Given the description of an element on the screen output the (x, y) to click on. 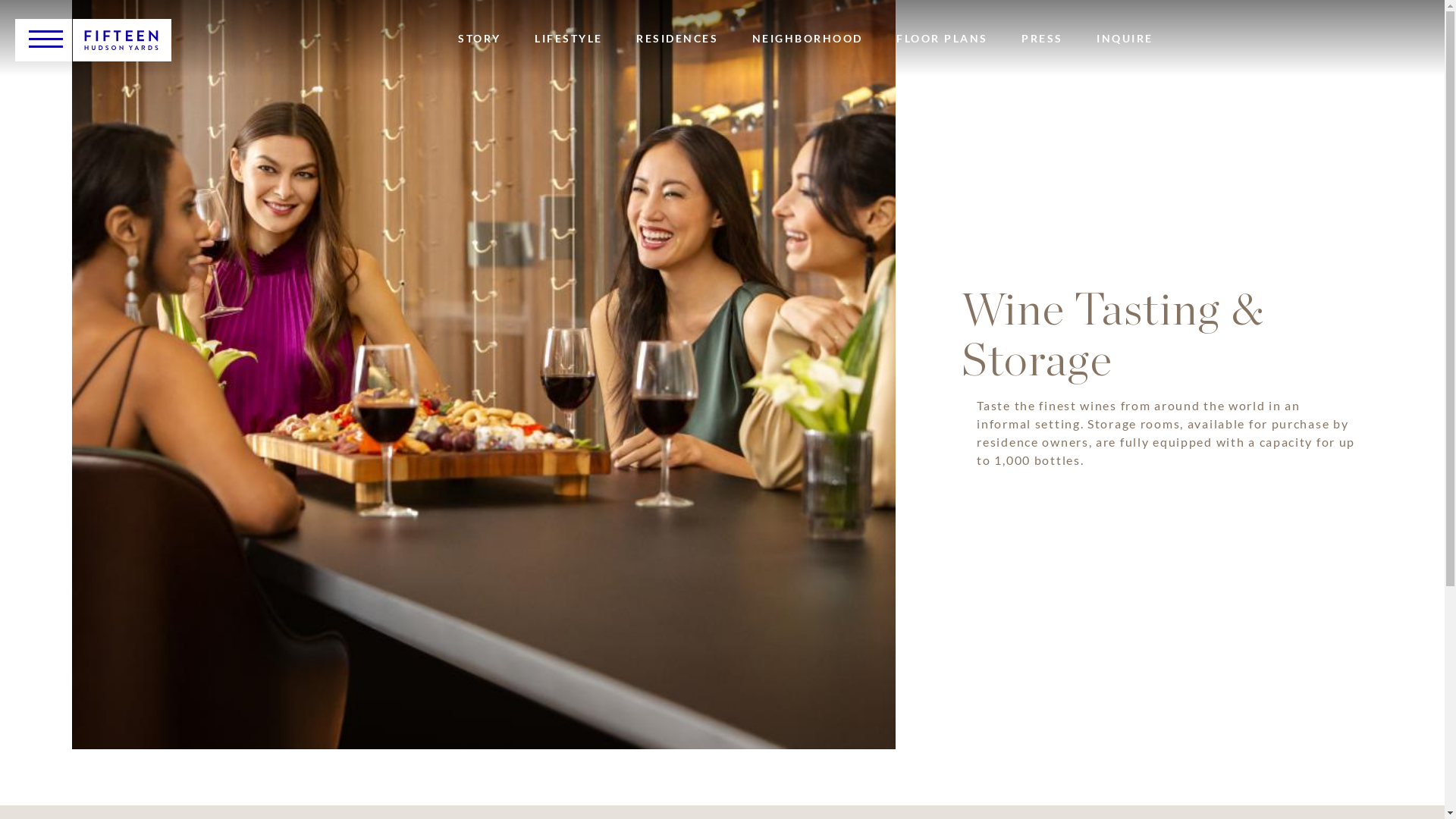
INQUIRE Element type: text (1124, 38)
Logo Element type: text (121, 40)
RESIDENCES Element type: text (677, 38)
Skip to main content Element type: text (0, 0)
NEIGHBORHOOD Element type: text (807, 38)
PRESS Element type: text (1042, 38)
Toggle Element type: text (45, 38)
LIFESTYLE Element type: text (568, 38)
FLOOR PLANS Element type: text (942, 38)
STORY Element type: text (479, 38)
